Given the description of an element on the screen output the (x, y) to click on. 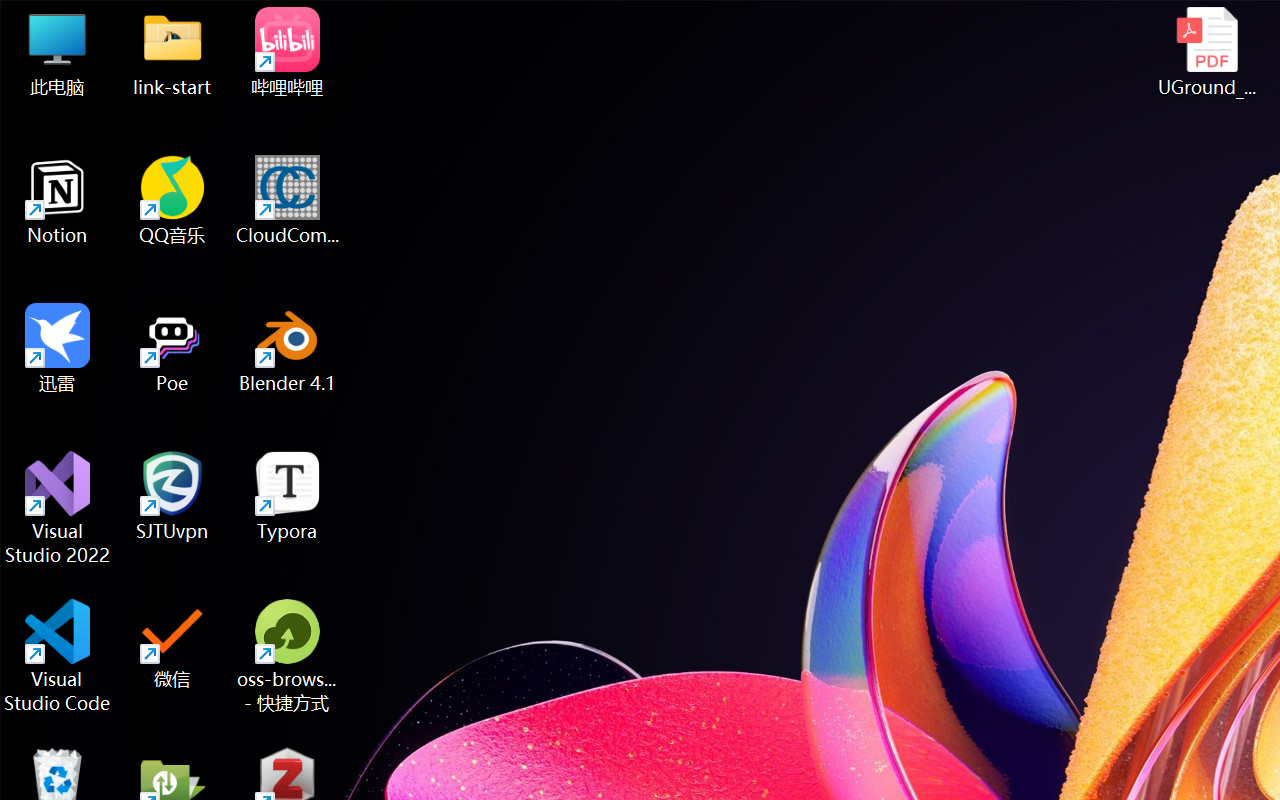
Typora (287, 496)
Visual Studio Code (57, 656)
CloudCompare (287, 200)
Visual Studio 2022 (57, 508)
UGround_paper.pdf (1206, 52)
SJTUvpn (172, 496)
Blender 4.1 (287, 348)
